Given the description of an element on the screen output the (x, y) to click on. 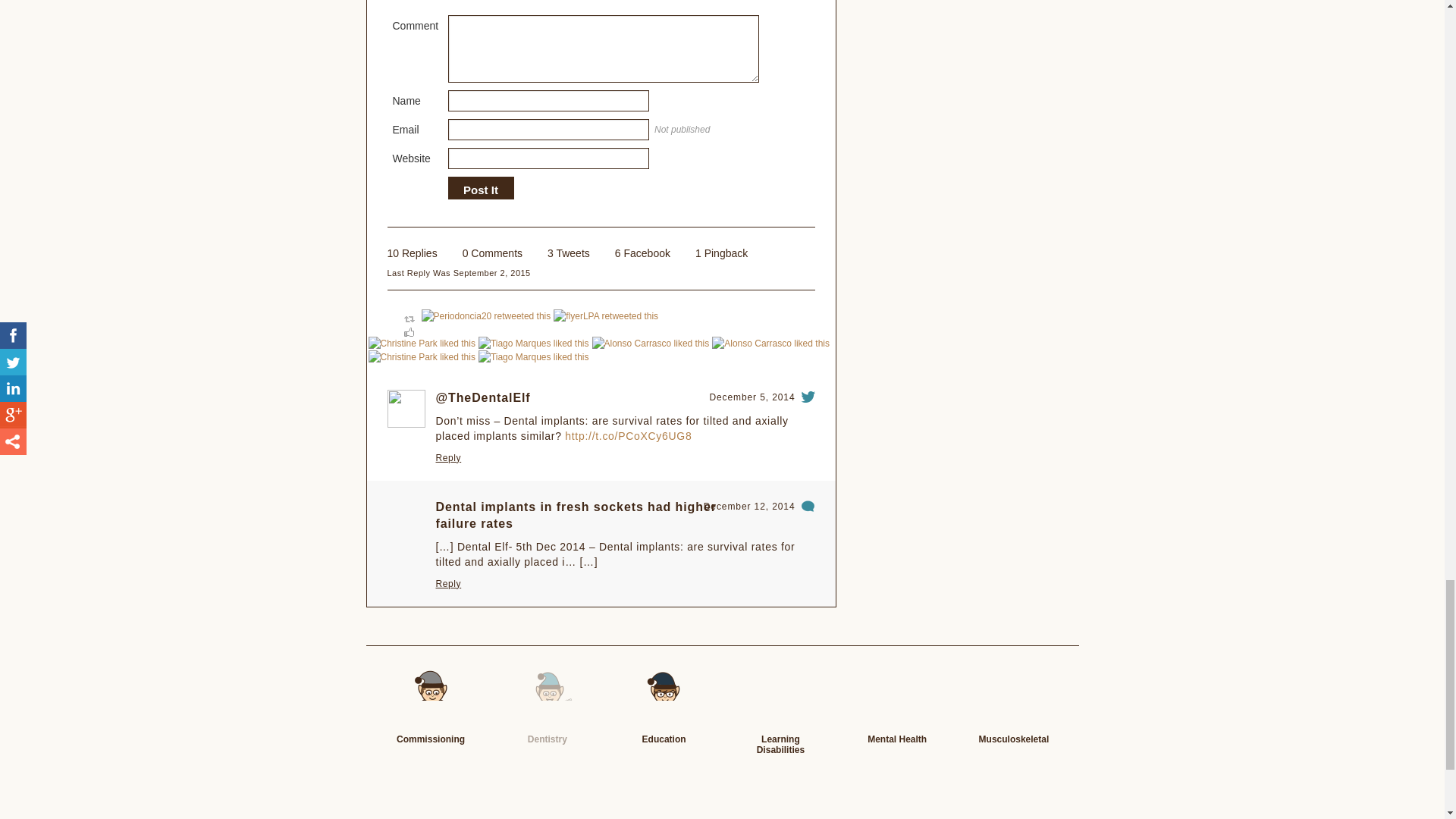
Post It (479, 189)
